Given the description of an element on the screen output the (x, y) to click on. 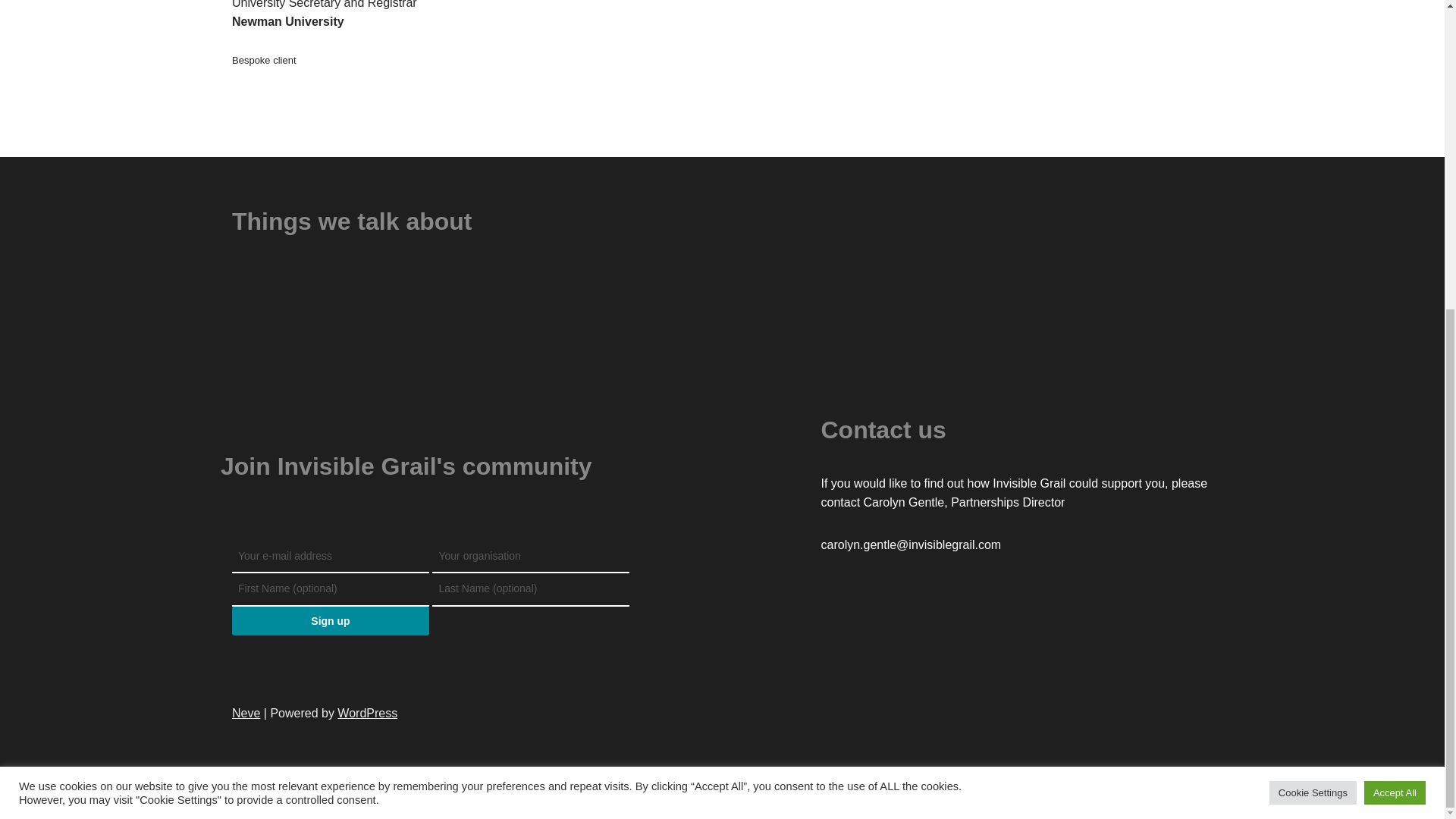
Sign up (330, 620)
Accept All (1394, 303)
Cookie Settings (1312, 303)
WordPress (367, 712)
Sign up (330, 620)
Neve (245, 712)
